Given the description of an element on the screen output the (x, y) to click on. 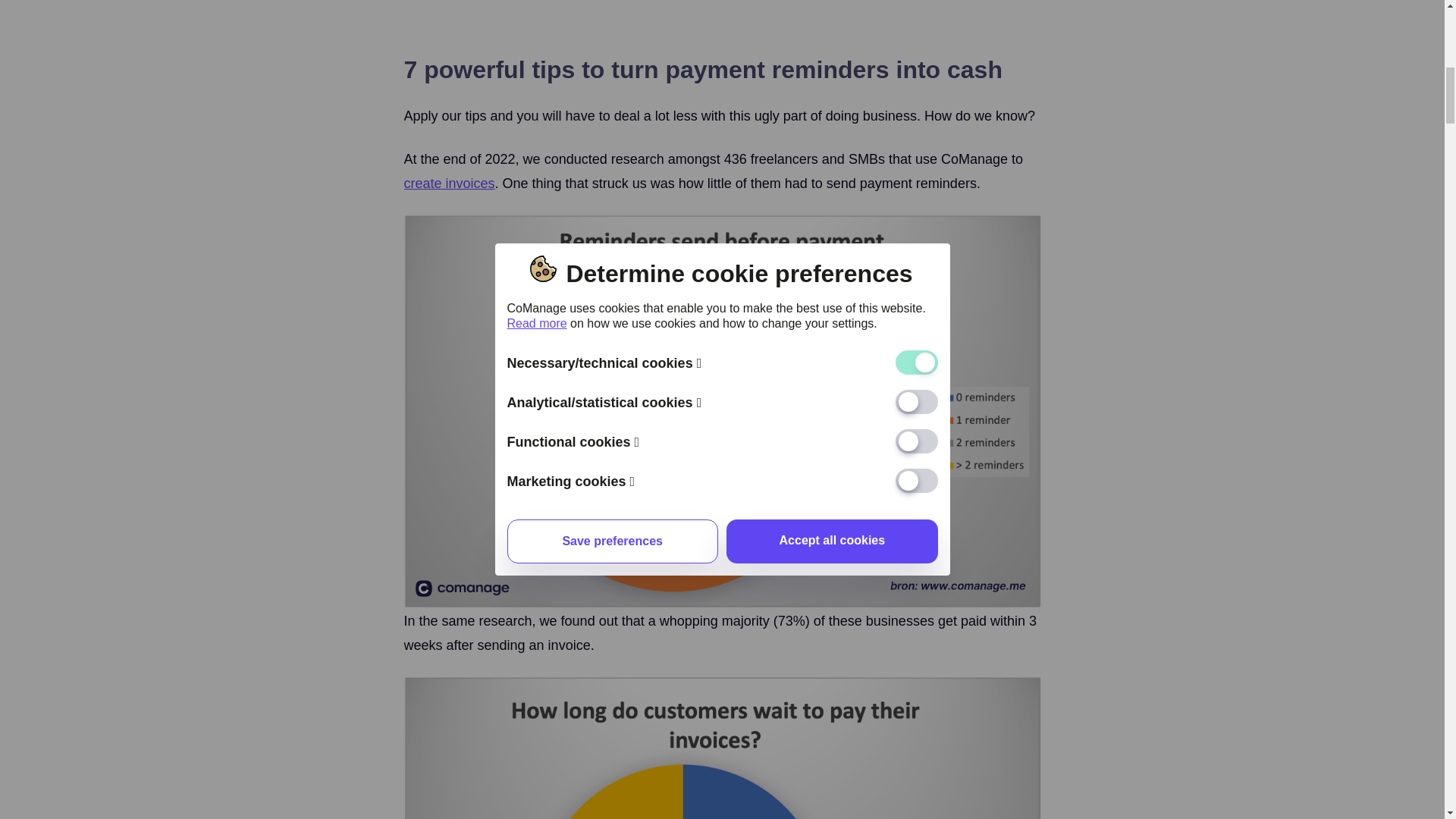
create invoices (449, 183)
